Given the description of an element on the screen output the (x, y) to click on. 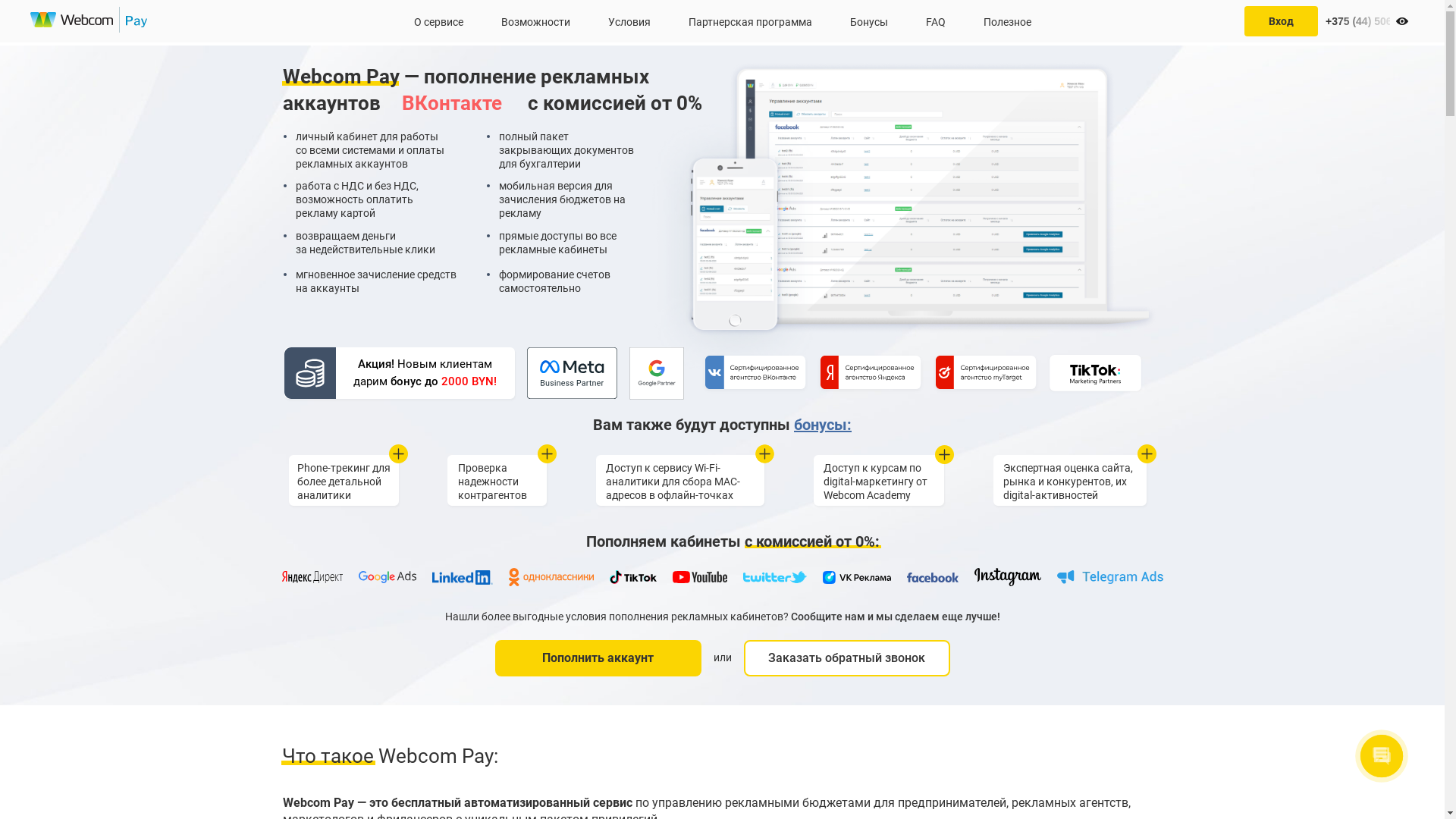
FAQ Element type: text (934, 21)
